Given the description of an element on the screen output the (x, y) to click on. 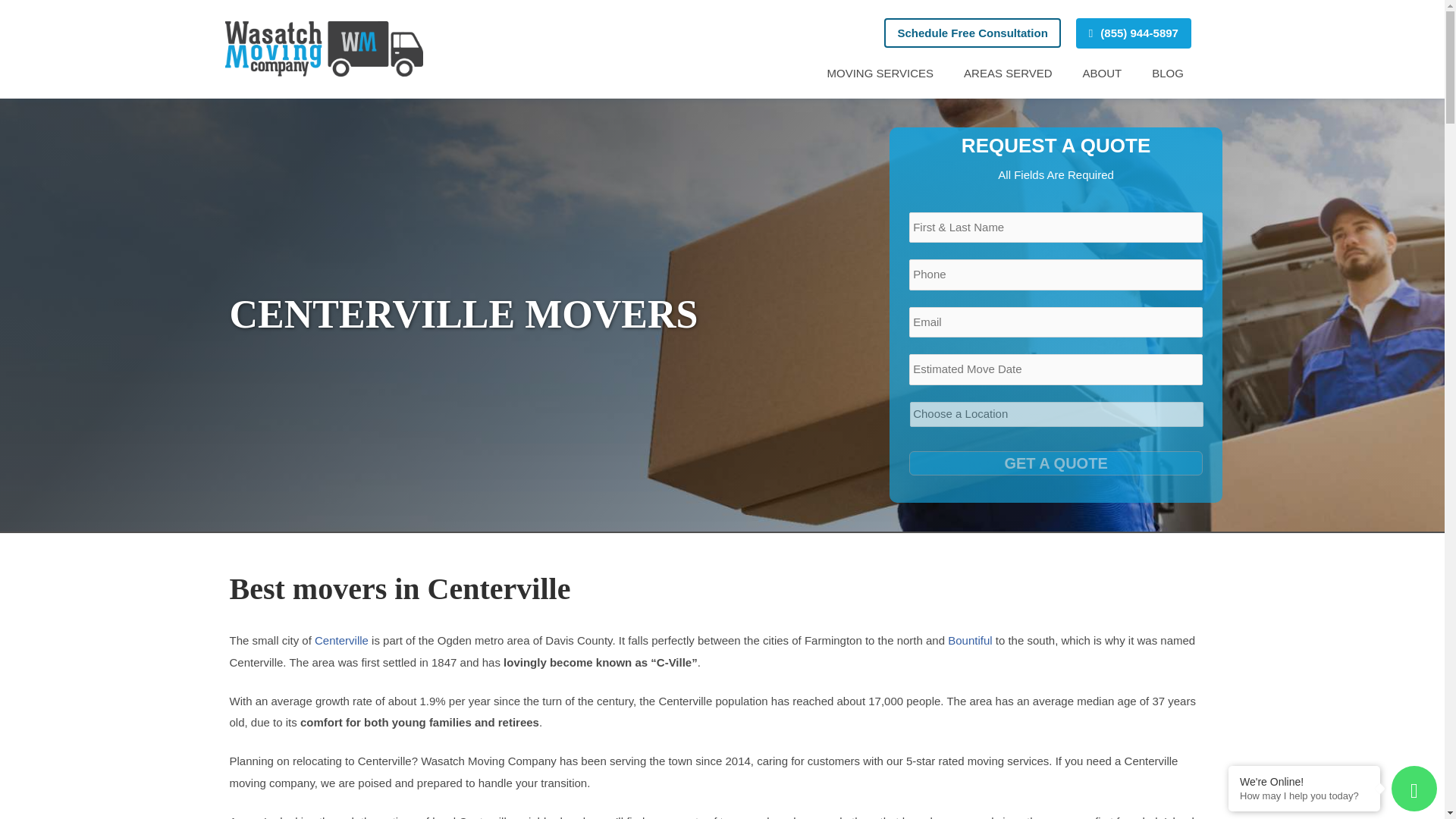
MOVING SERVICES (880, 73)
AREAS SERVED (1008, 73)
BLOG (1167, 73)
How may I help you today? (1304, 795)
We're Online! (1304, 781)
ABOUT (1102, 73)
Schedule Free Consultation (971, 32)
GET A QUOTE (1055, 463)
